Given the description of an element on the screen output the (x, y) to click on. 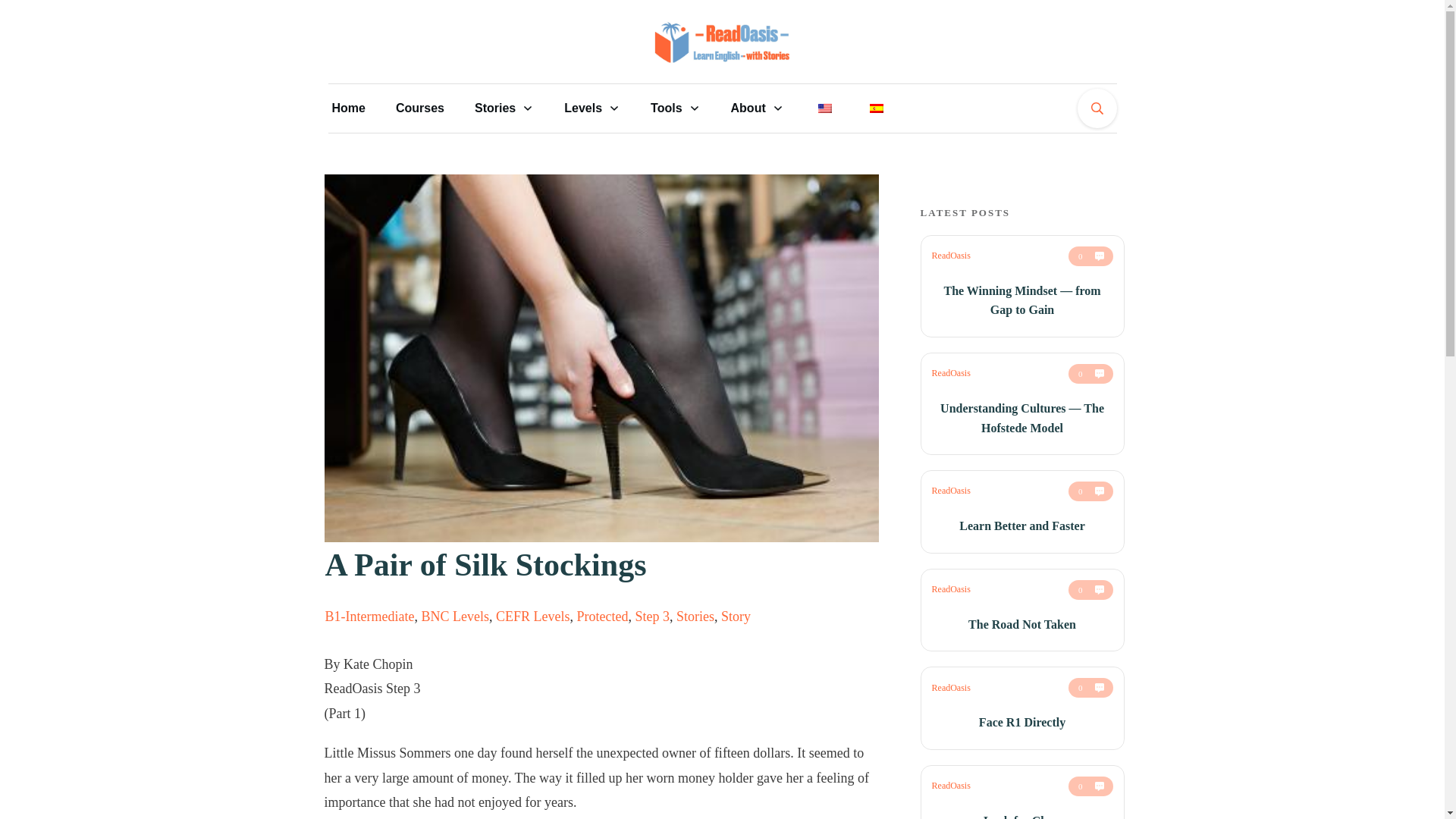
Tools (675, 107)
A Pair of Silk Stockings (485, 564)
Spanish (876, 108)
BNC Levels (454, 616)
CEFR Levels (533, 616)
Levels (592, 107)
Home (348, 107)
B1-Intermediate (368, 616)
Stories (695, 616)
ReadOasis (951, 372)
English (824, 108)
Story (735, 616)
ReadOasis (951, 255)
Stories (504, 107)
